Given the description of an element on the screen output the (x, y) to click on. 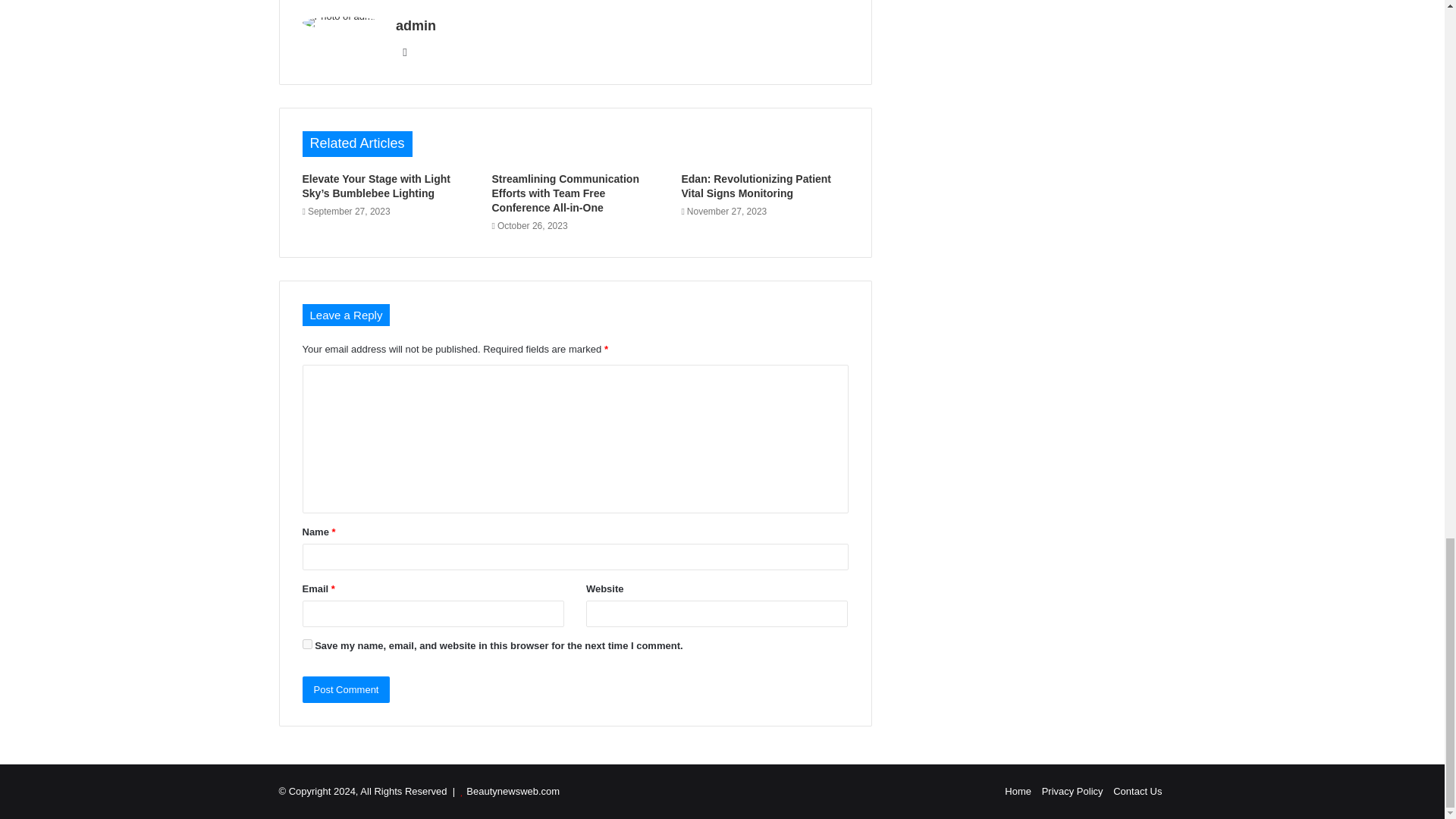
Edan: Revolutionizing Patient Vital Signs Monitoring (756, 185)
admin (415, 25)
Website (404, 52)
Post Comment (345, 689)
yes (306, 644)
